Given the description of an element on the screen output the (x, y) to click on. 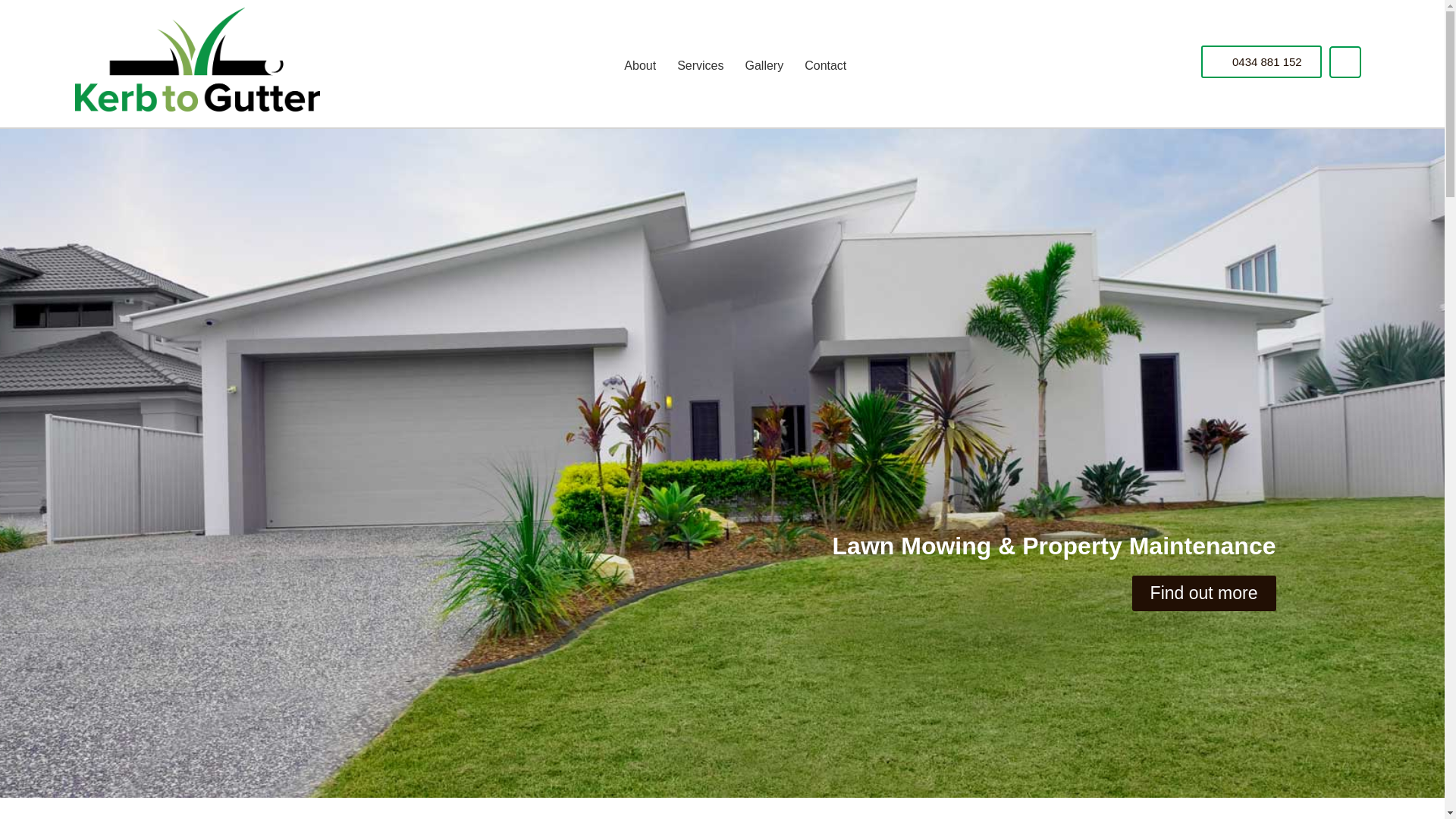
About Element type: text (639, 65)
Services Element type: text (700, 65)
Find out more Element type: text (1204, 593)
0434 881 152 Element type: text (1261, 61)
Contact Element type: text (824, 65)
Gallery Element type: text (763, 65)
